Given the description of an element on the screen output the (x, y) to click on. 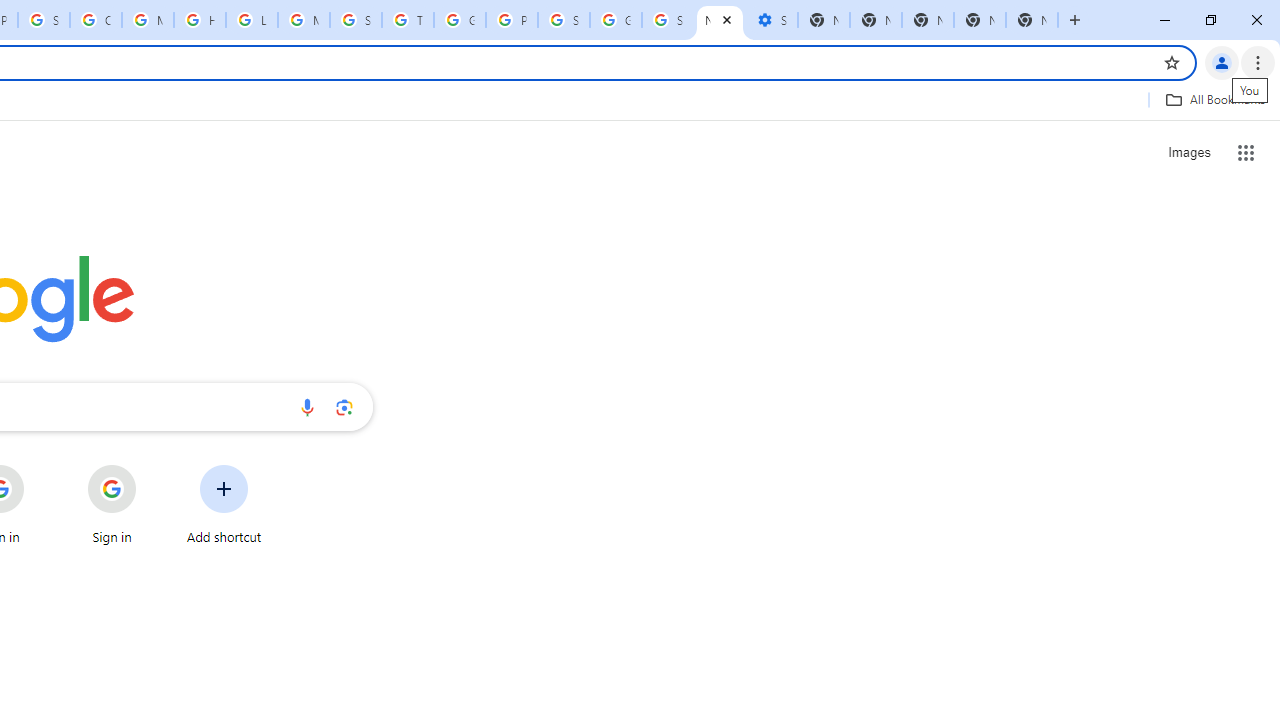
New Tab (979, 20)
Google Cybersecurity Innovations - Google Safety Center (616, 20)
Add shortcut (223, 504)
Sign in - Google Accounts (667, 20)
Google Ads - Sign in (459, 20)
Sign in - Google Accounts (43, 20)
Search our Doodle Library Collection - Google Doodles (355, 20)
All Bookmarks (1215, 99)
Settings - Performance (771, 20)
